Given the description of an element on the screen output the (x, y) to click on. 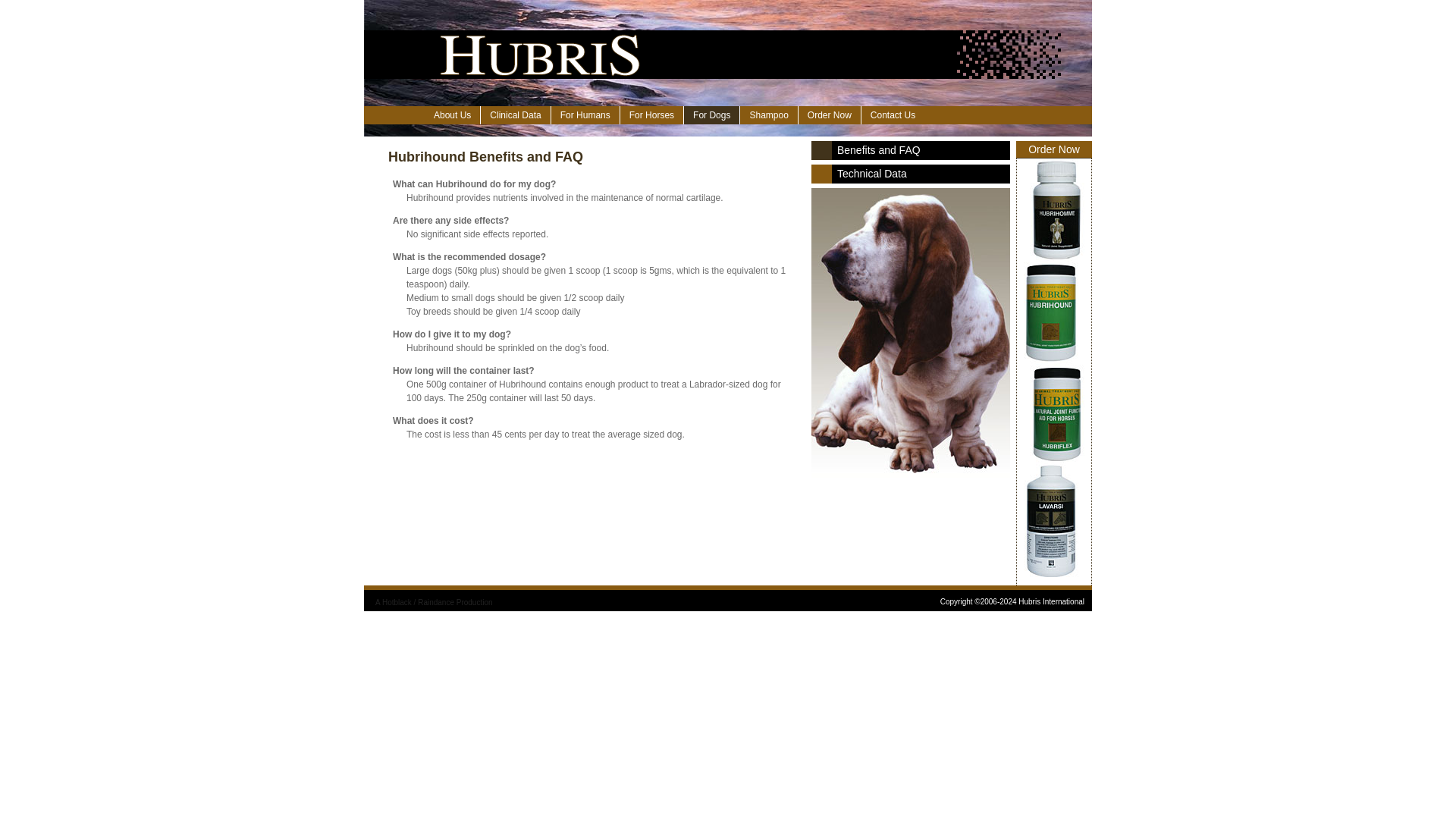
Raindance (435, 602)
Contact Us (892, 115)
Hotblack (396, 602)
Technical Data (910, 173)
For Dogs (711, 115)
Benefits and FAQ (910, 149)
Clinical Data (515, 115)
Order Now (828, 115)
Shampoo (767, 115)
For Humans (585, 115)
